Given the description of an element on the screen output the (x, y) to click on. 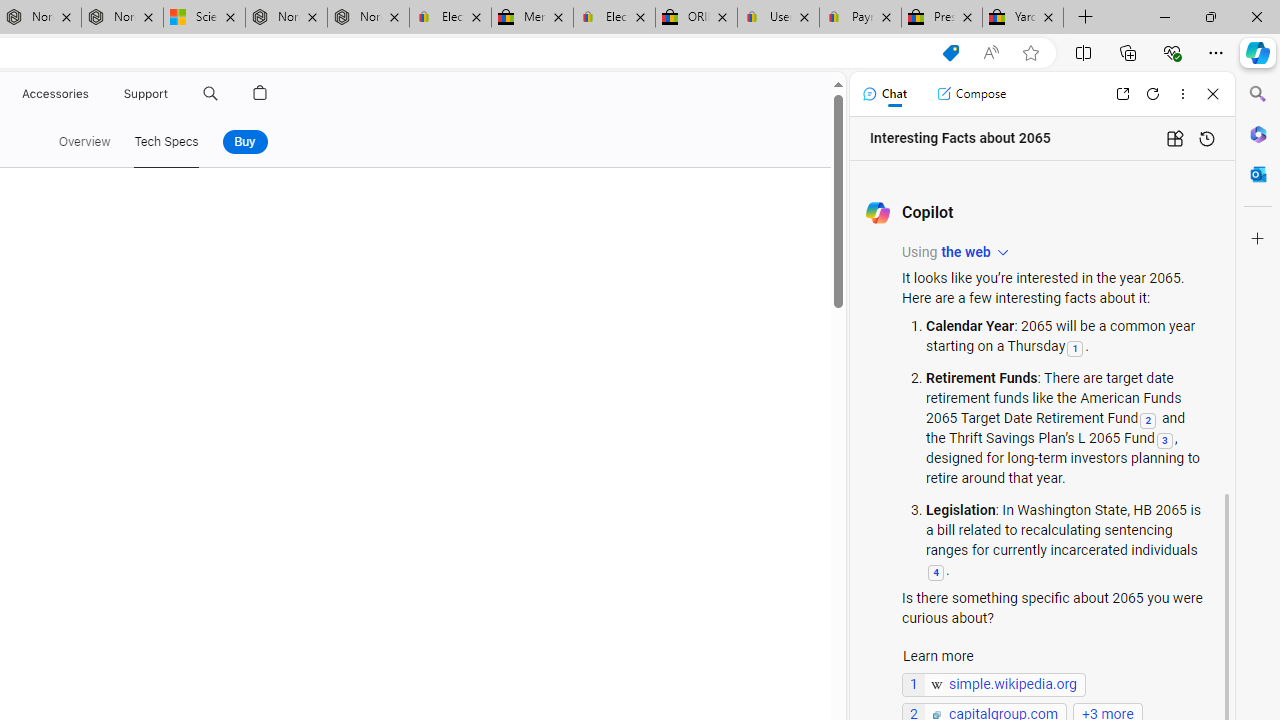
Class: globalnav-item globalnav-search shift-0-1 (210, 93)
Search apple.com (210, 93)
Tech Specs (166, 141)
Support (146, 93)
Tech Specs (166, 141)
